Given the description of an element on the screen output the (x, y) to click on. 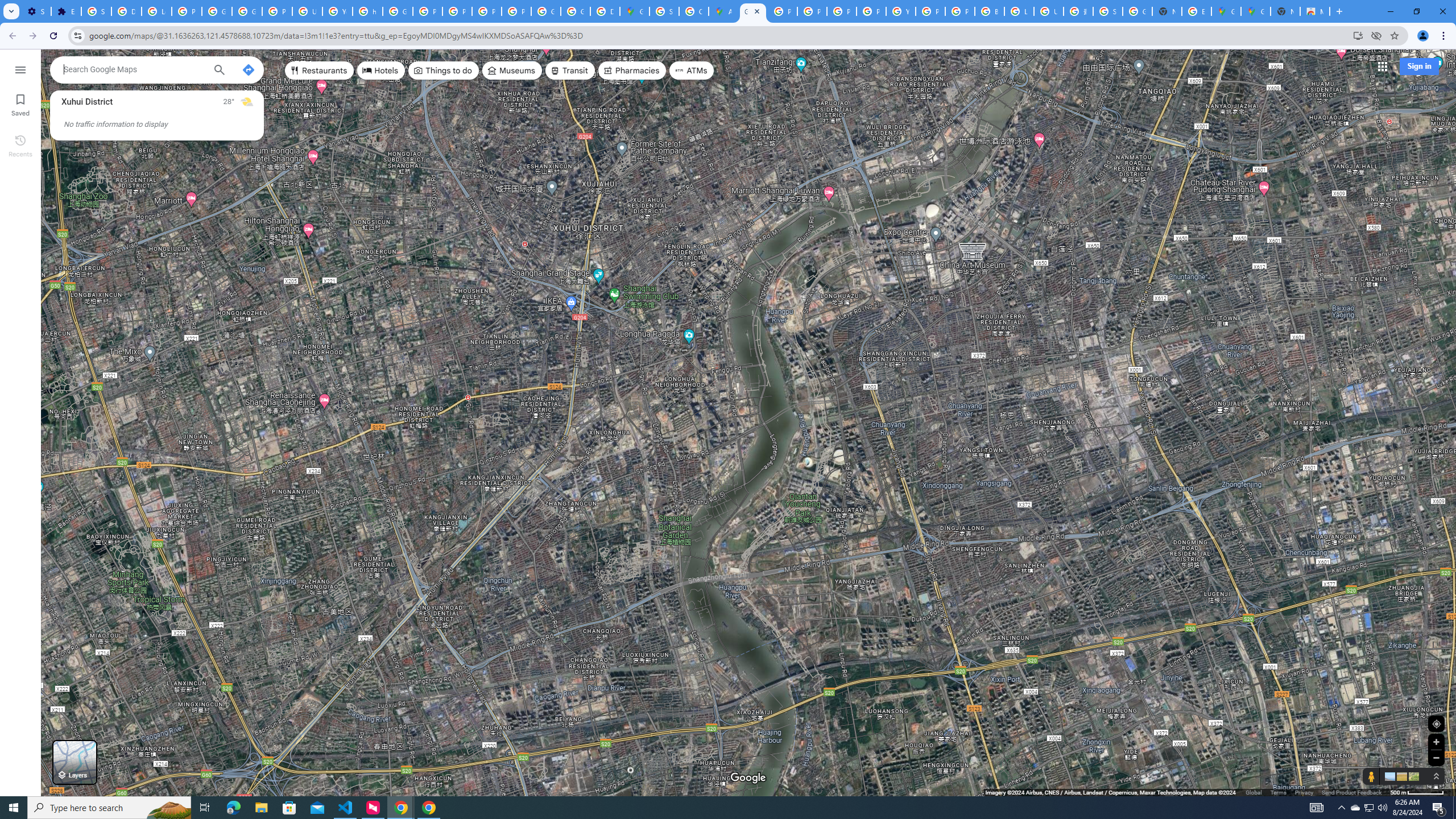
Search Google Maps (133, 69)
Privacy Help Center - Policies Help (426, 11)
ATMs (691, 70)
Saved (20, 104)
Directions (247, 69)
YouTube (900, 11)
Create your Google Account (693, 11)
Google Maps (753, 11)
